Given the description of an element on the screen output the (x, y) to click on. 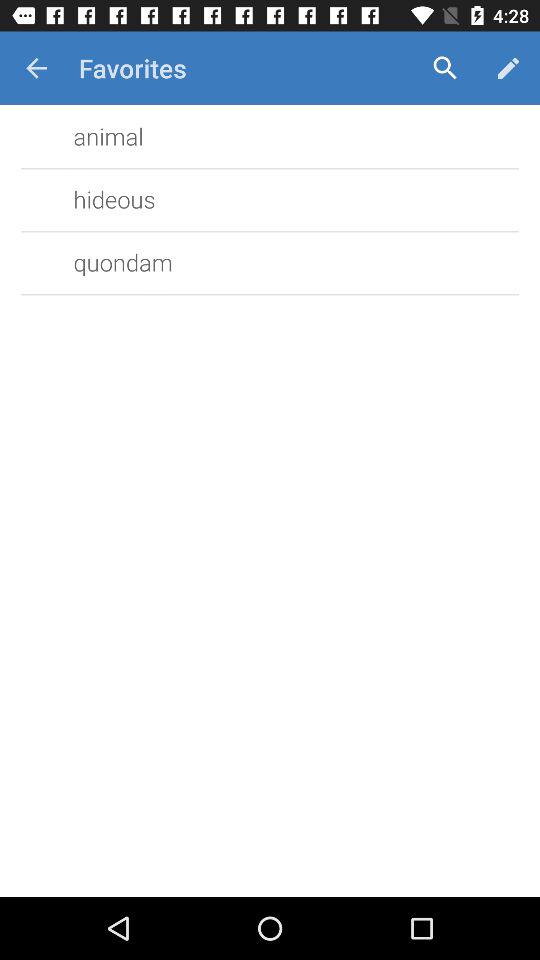
open the icon to the right of the favorites item (444, 67)
